Given the description of an element on the screen output the (x, y) to click on. 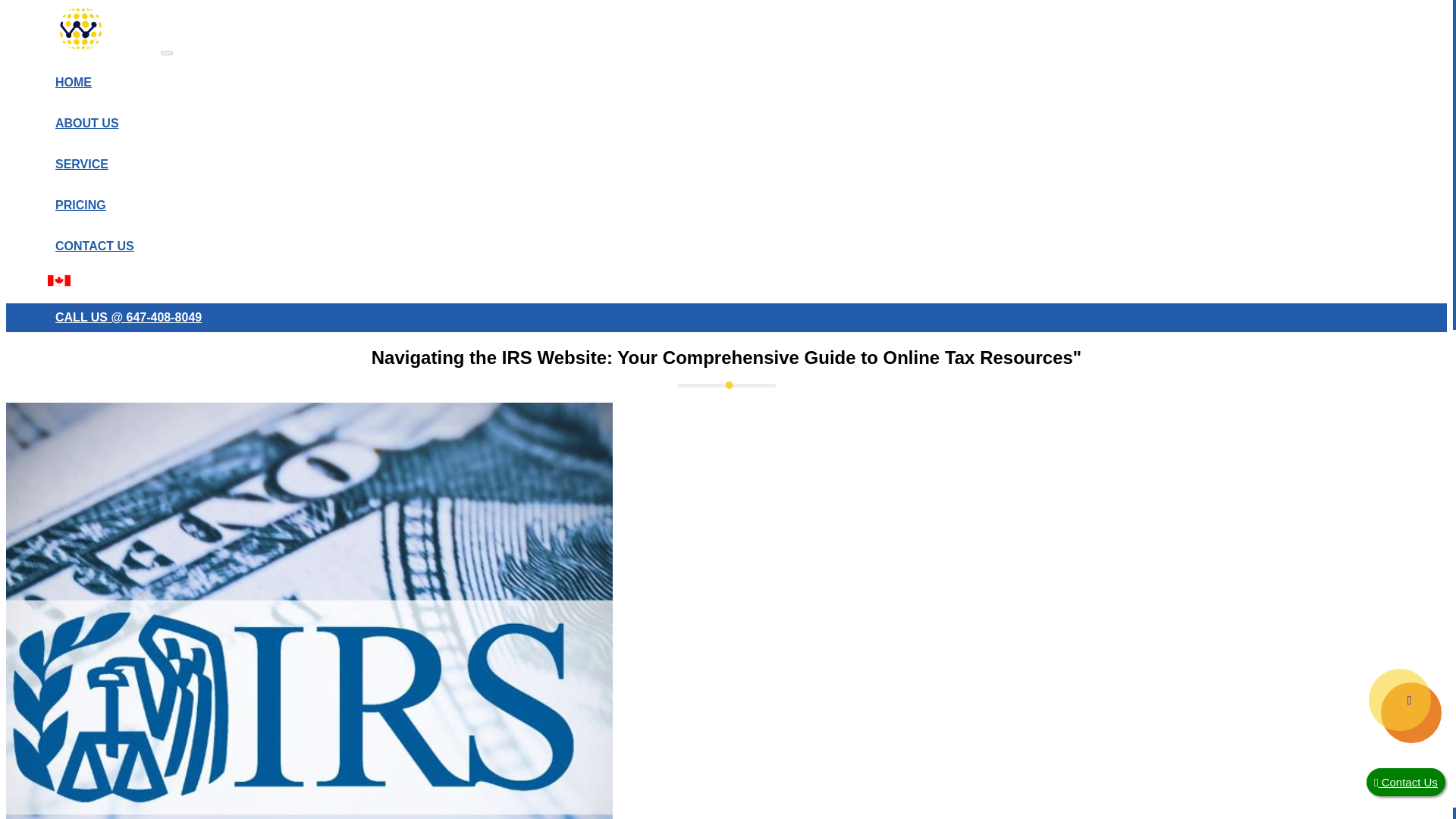
Website For All Business Logo (81, 29)
PRICING (80, 204)
Canada (58, 280)
HOME (73, 81)
ABOUT US (87, 122)
SERVICE (81, 163)
CONTACT US (94, 245)
